Given the description of an element on the screen output the (x, y) to click on. 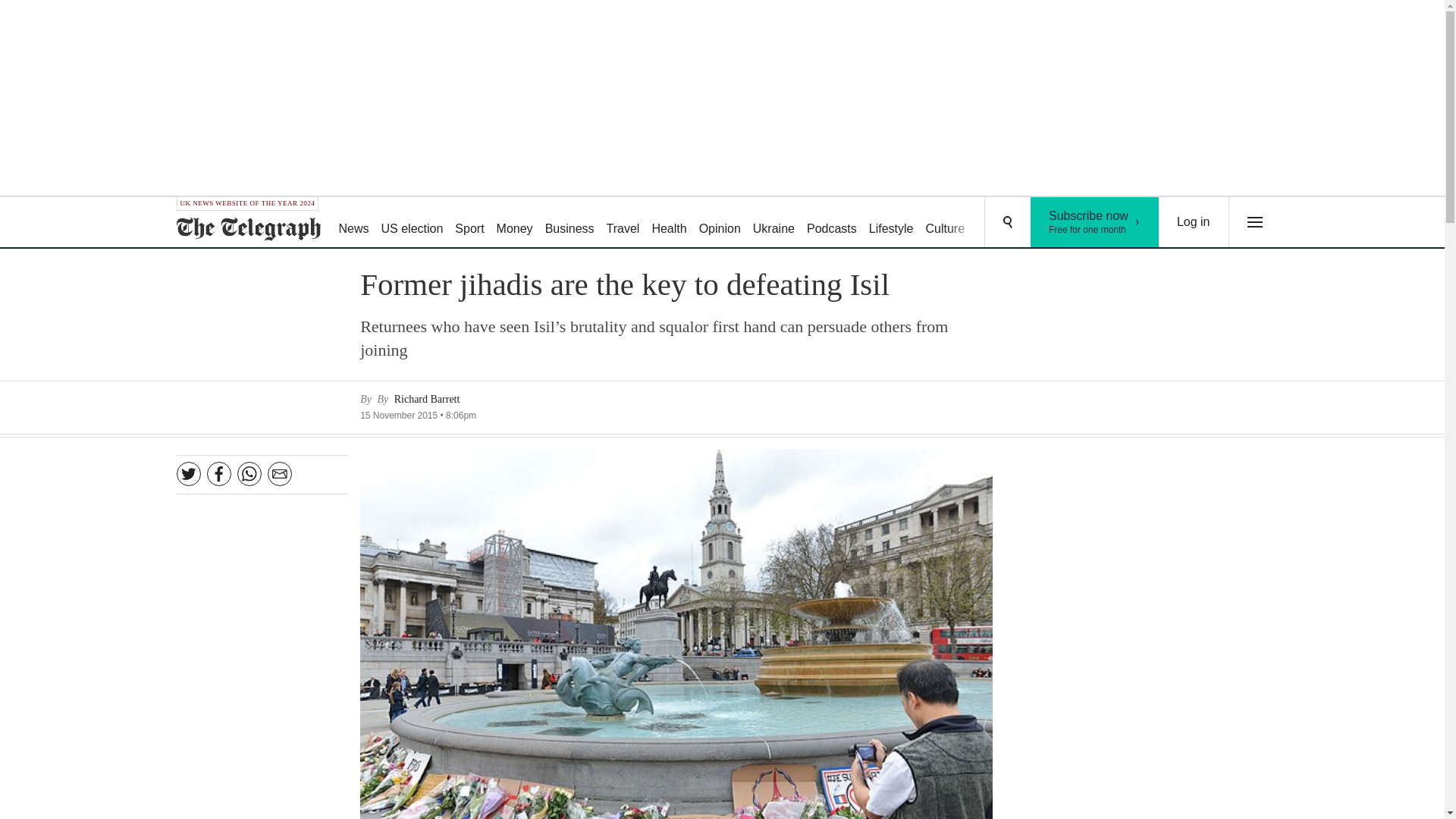
Puzzles (998, 223)
Podcasts (831, 223)
Money (514, 223)
Health (669, 223)
Culture (944, 223)
Travel (622, 223)
Lifestyle (1094, 222)
Opinion (891, 223)
Log in (719, 223)
Ukraine (1193, 222)
Business (773, 223)
US election (568, 223)
